Given the description of an element on the screen output the (x, y) to click on. 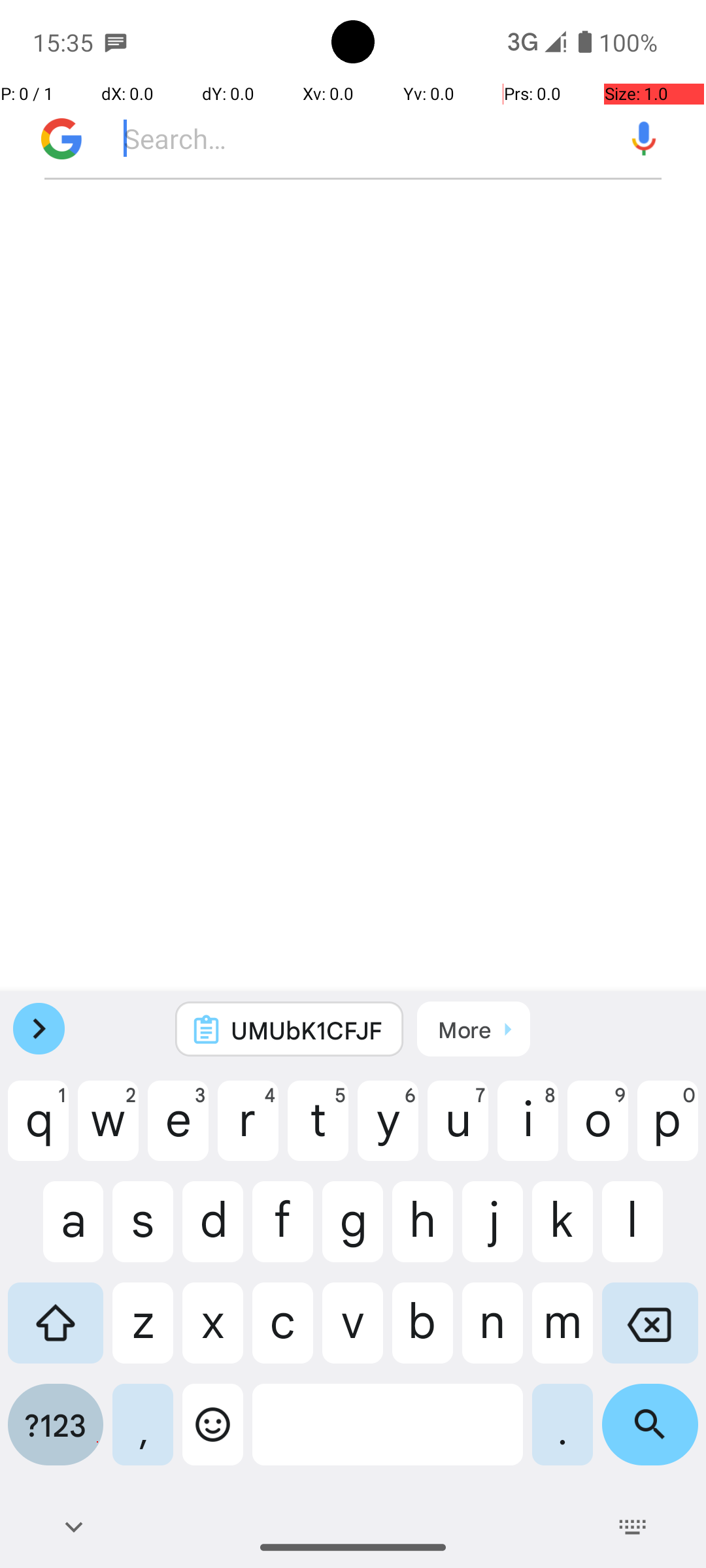
Go to Discover Element type: android.widget.FrameLayout (54, 138)
Voice Search Element type: android.widget.ImageView (643, 138)
